Given the description of an element on the screen output the (x, y) to click on. 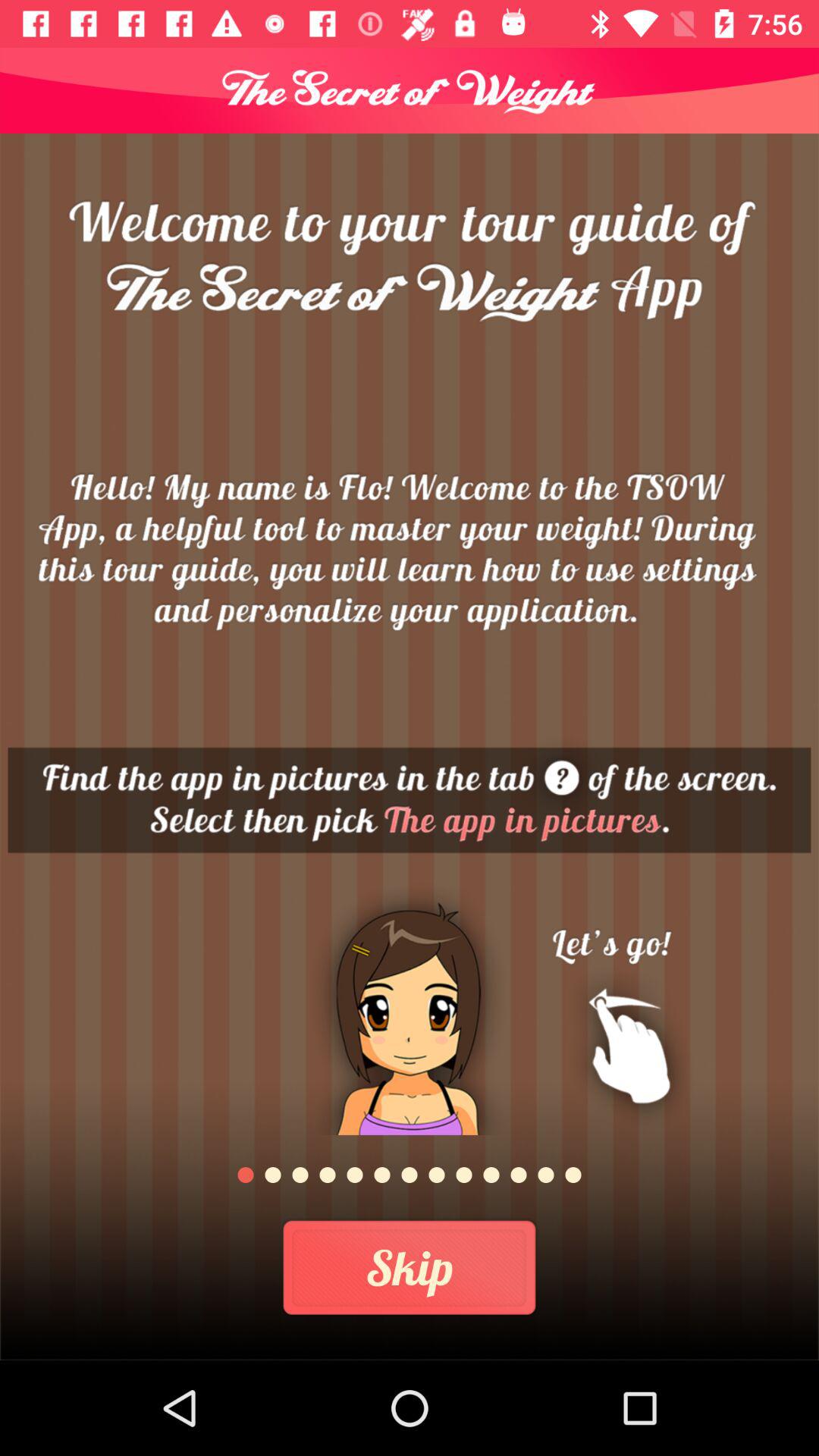
choose the skip icon (409, 1267)
